Given the description of an element on the screen output the (x, y) to click on. 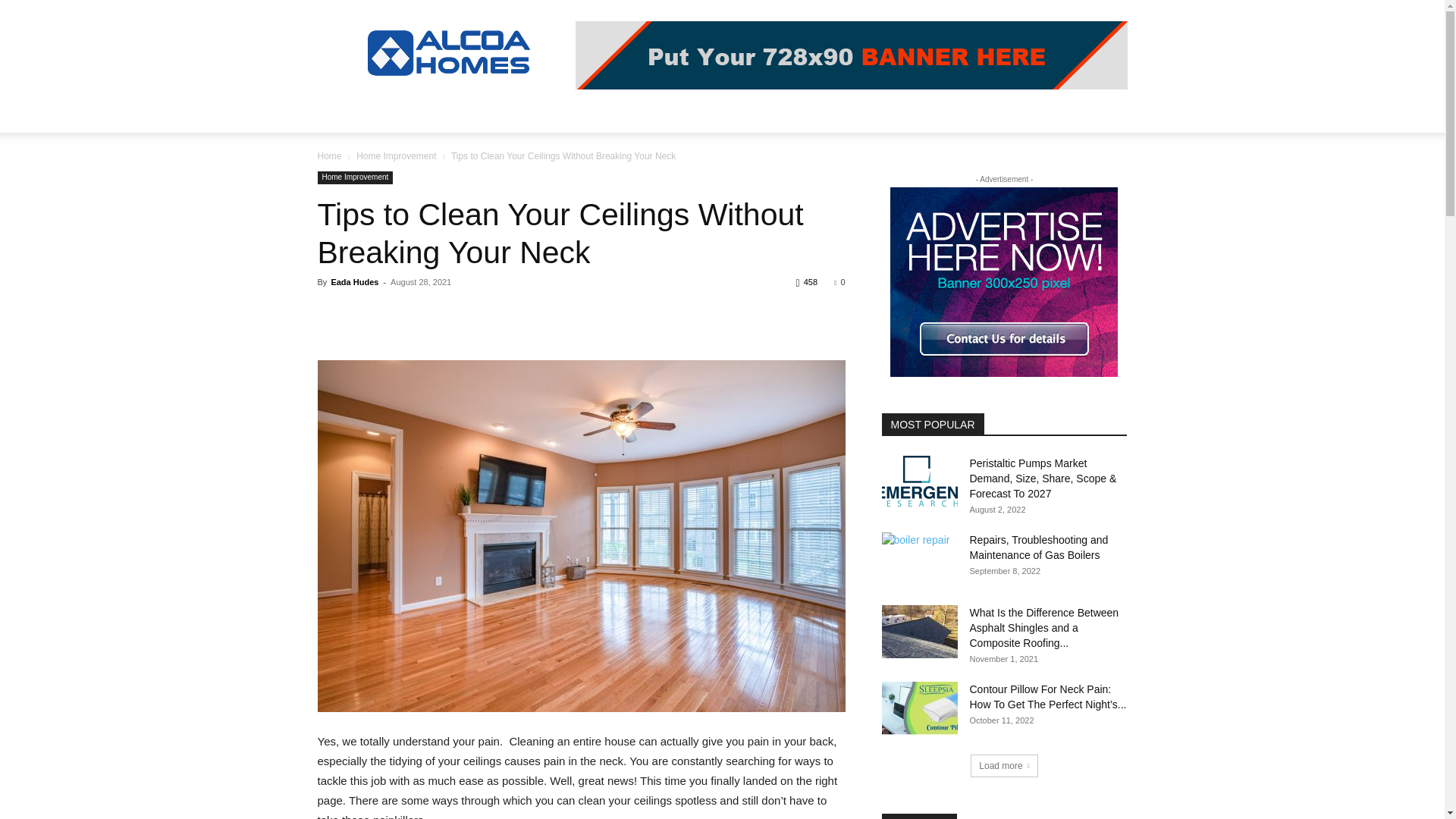
FURNITURE (672, 114)
WRITE FOR US (834, 114)
HOME (343, 114)
Home (328, 155)
CONTACT (919, 114)
LAWN AND GARDEN (568, 114)
View all posts in Home Improvement (395, 155)
Search (1085, 174)
HOME IMPROVEMENT (437, 114)
LOG IN (750, 114)
Home Improvement (395, 155)
